Given the description of an element on the screen output the (x, y) to click on. 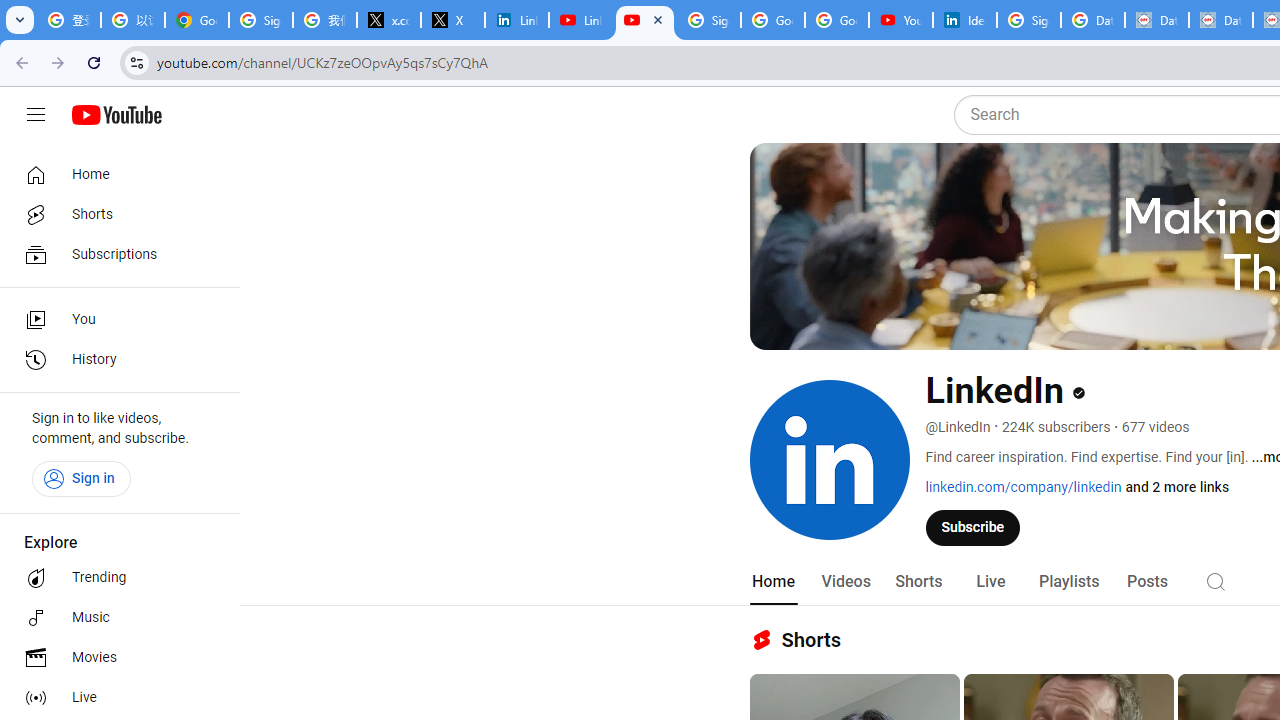
Subscribe (973, 527)
Shorts (113, 214)
Posts (1147, 581)
